Given the description of an element on the screen output the (x, y) to click on. 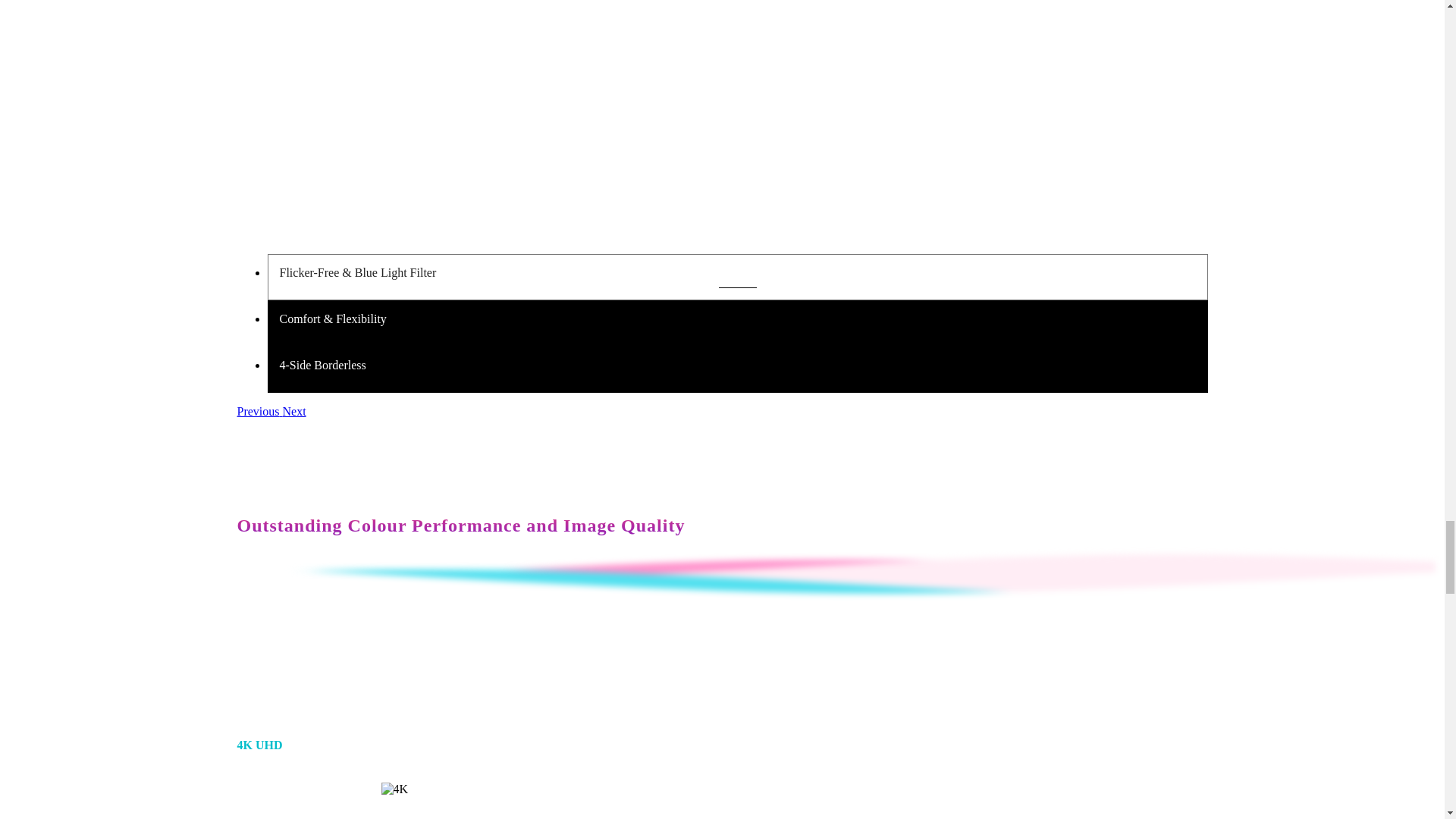
Next (293, 410)
4-Side Borderless (736, 369)
Superb High-Definition Clarity (721, 658)
Previous (258, 410)
